Given the description of an element on the screen output the (x, y) to click on. 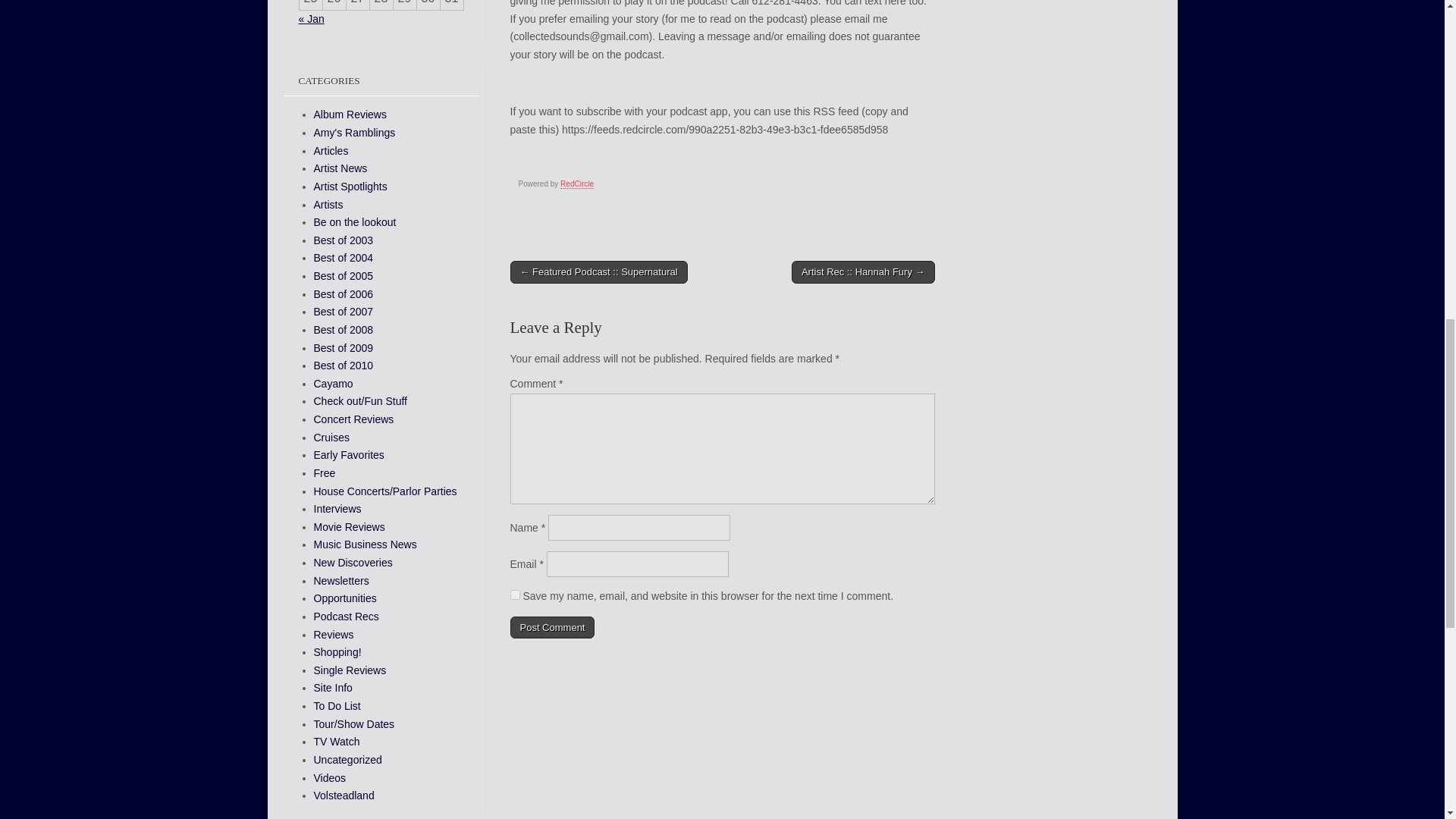
Album Reviews (350, 114)
Artist Spotlights (350, 186)
Best of 2007 (344, 311)
Best of 2008 (344, 329)
Post Comment (551, 627)
Articles (331, 150)
yes (514, 594)
Best of 2006 (344, 294)
RedCircle (577, 184)
Best of 2004 (344, 257)
